Given the description of an element on the screen output the (x, y) to click on. 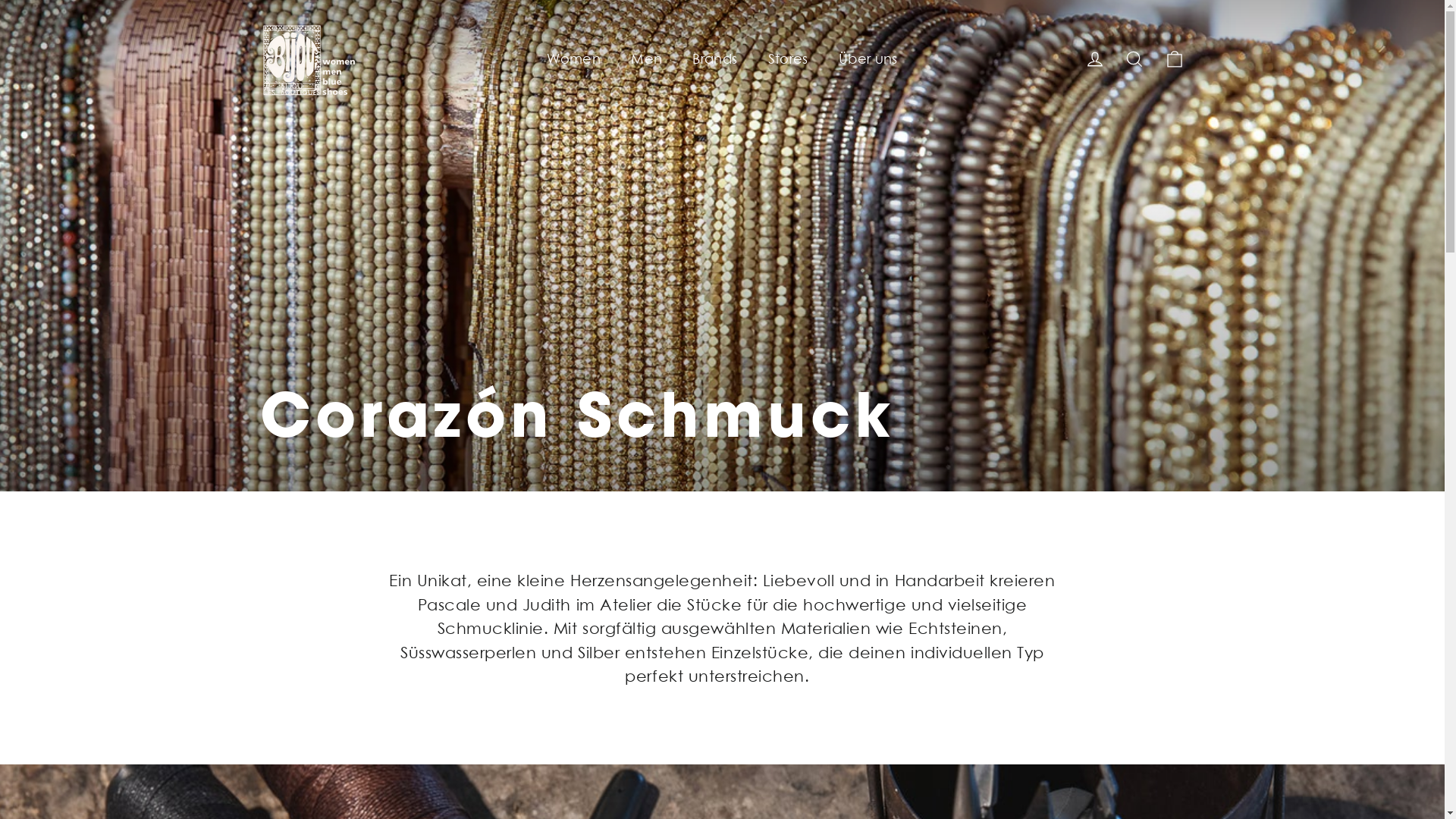
Men Element type: text (646, 58)
Einloggen Element type: text (1094, 58)
Stores Element type: text (787, 58)
Women Element type: text (573, 58)
Brands Element type: text (714, 58)
Einkaufswagen Element type: text (1173, 58)
Suche Element type: text (1134, 58)
